Given the description of an element on the screen output the (x, y) to click on. 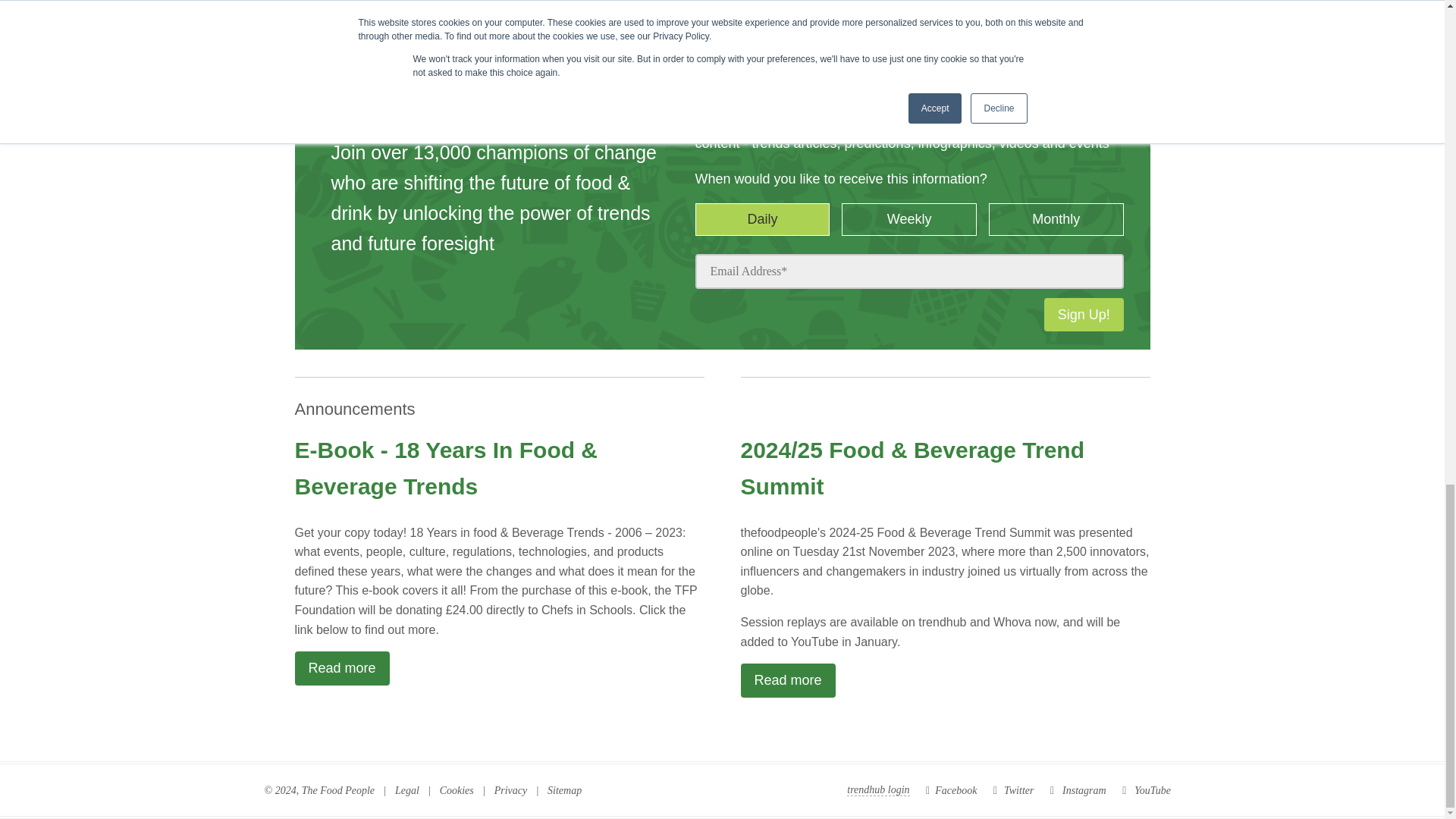
Read more (786, 680)
Read more (341, 668)
Twitter (1012, 790)
Legal (406, 790)
Privacy (511, 790)
Sitemap (563, 790)
YouTube (1146, 790)
Instagram (1077, 790)
Sign Up! (1083, 315)
Facebook (951, 790)
Cookies (456, 790)
trendhub login (877, 790)
